Given the description of an element on the screen output the (x, y) to click on. 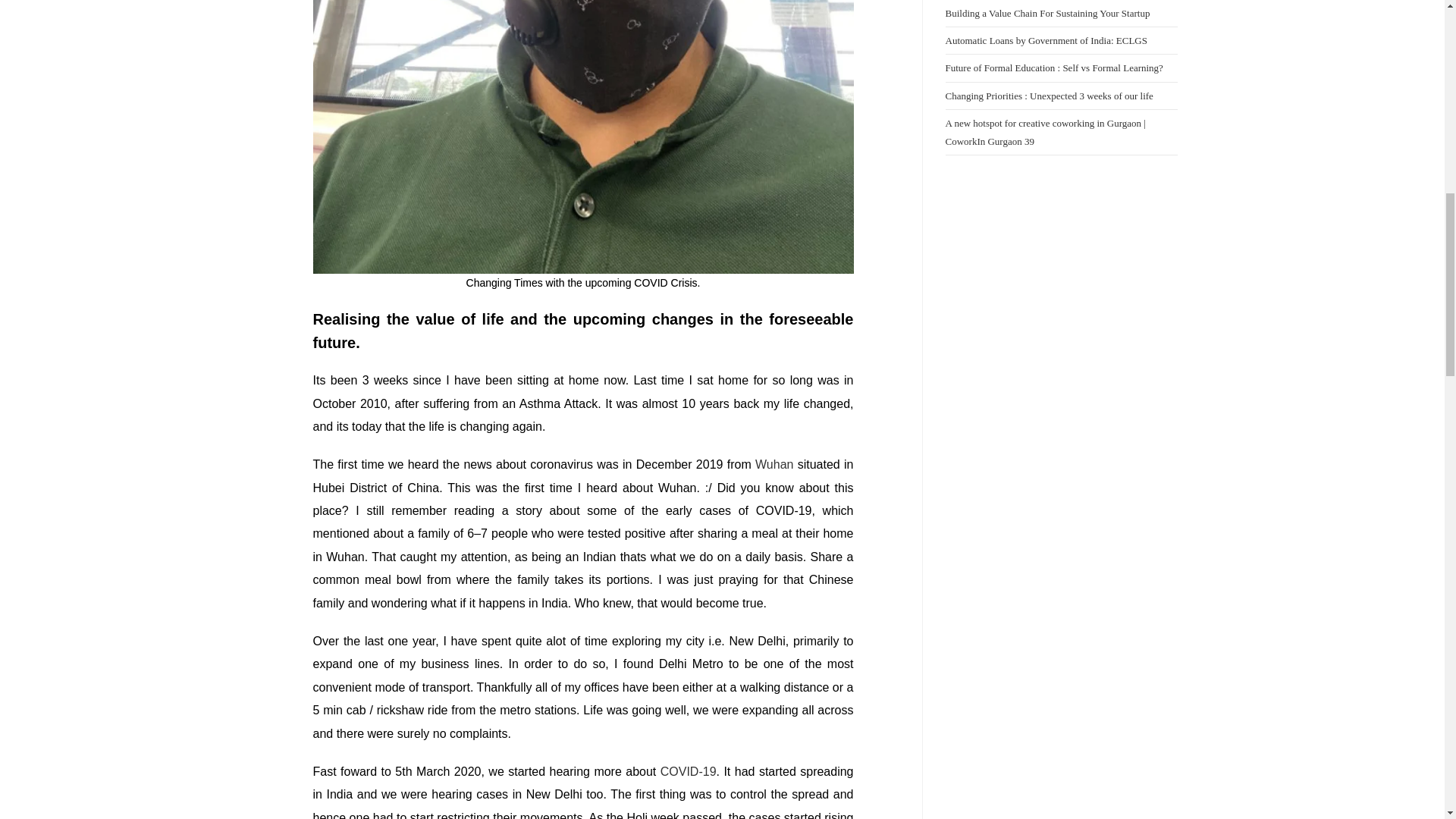
Wuhan (774, 463)
COVID-19 (688, 771)
